Given the description of an element on the screen output the (x, y) to click on. 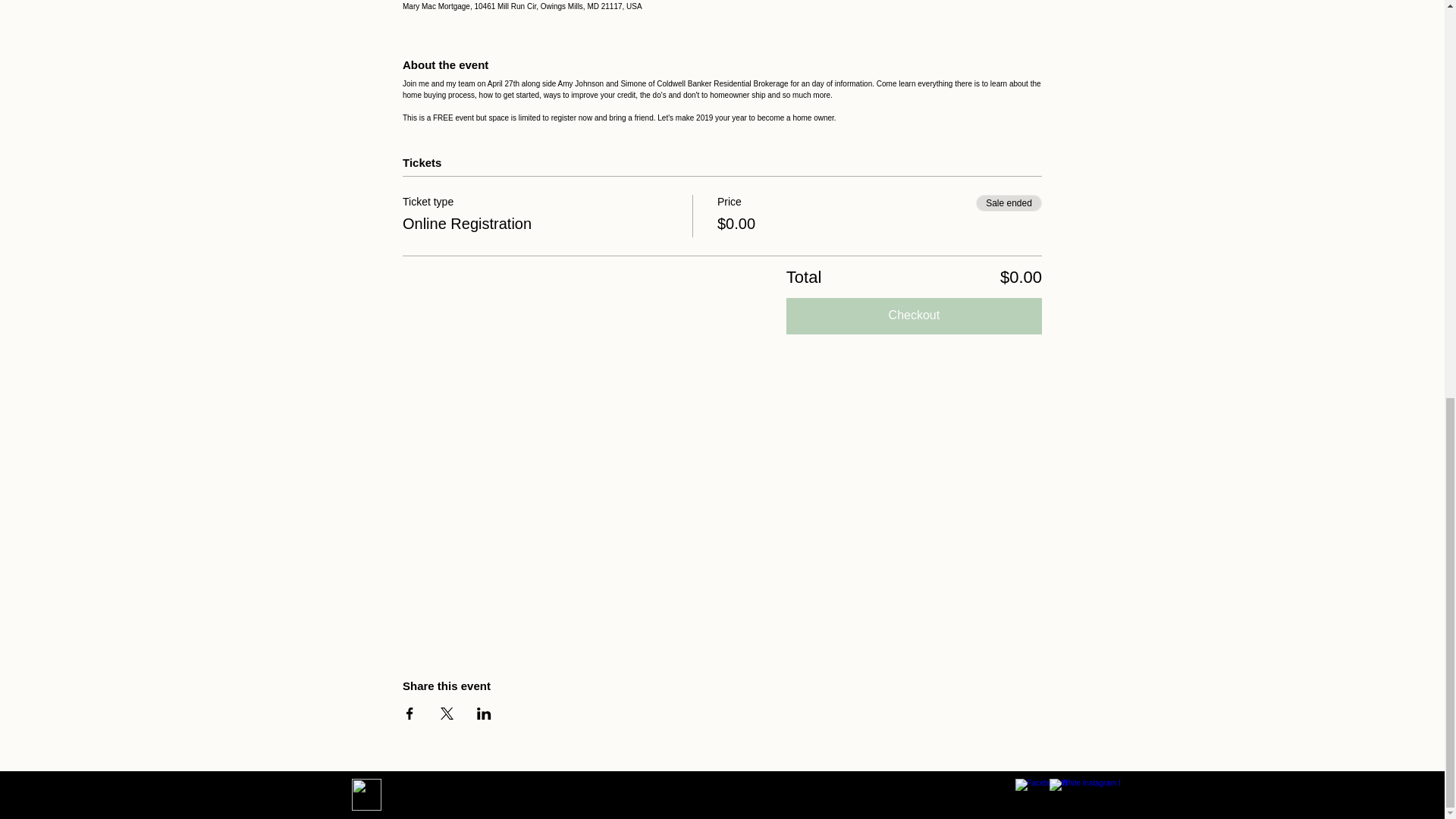
Checkout (914, 316)
